Given the description of an element on the screen output the (x, y) to click on. 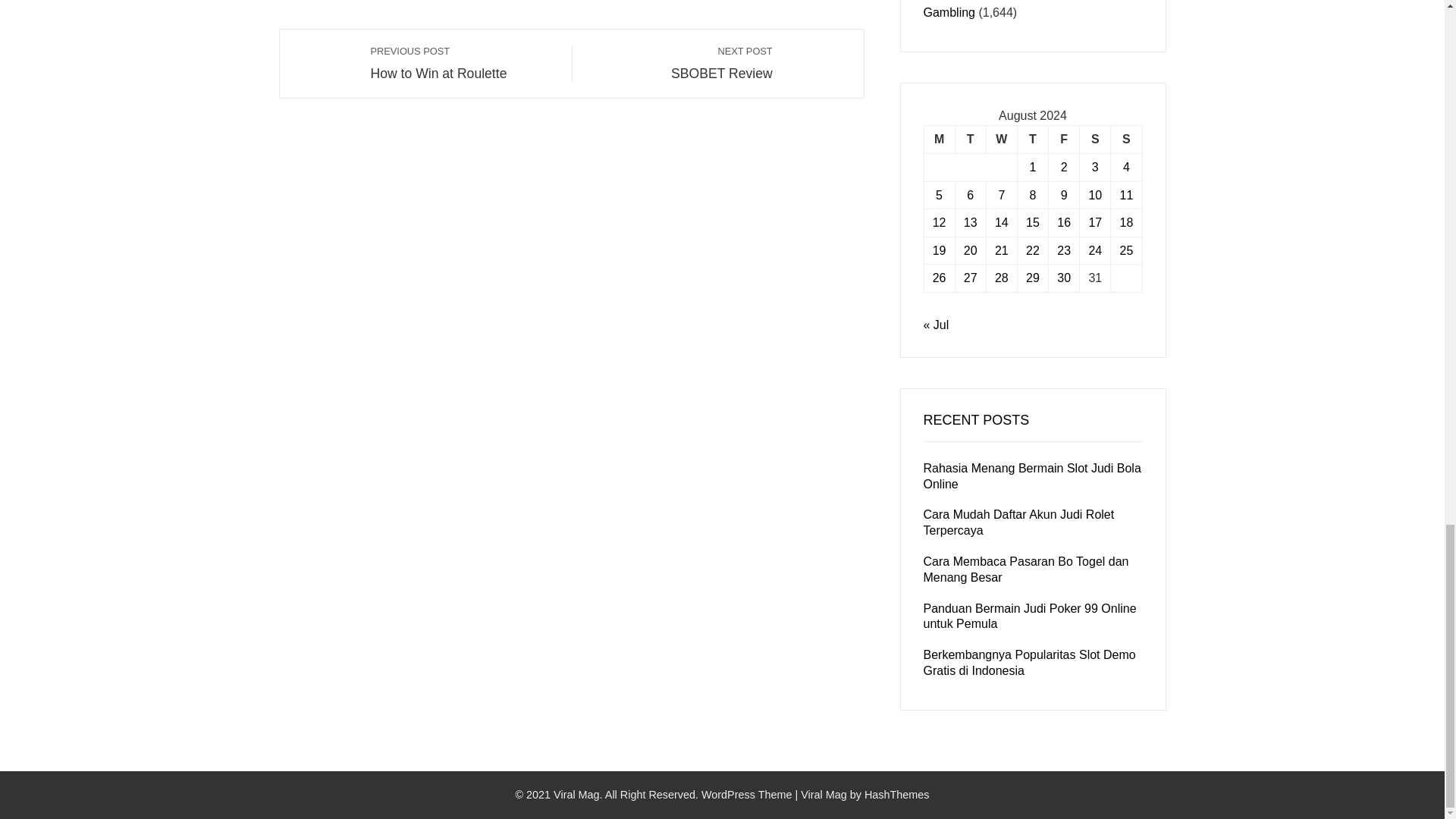
Saturday (1095, 139)
Wednesday (462, 63)
Friday (1000, 139)
Thursday (1064, 139)
Monday (1032, 139)
Tuesday (939, 139)
Sunday (970, 139)
Download Viral News (1125, 139)
